Given the description of an element on the screen output the (x, y) to click on. 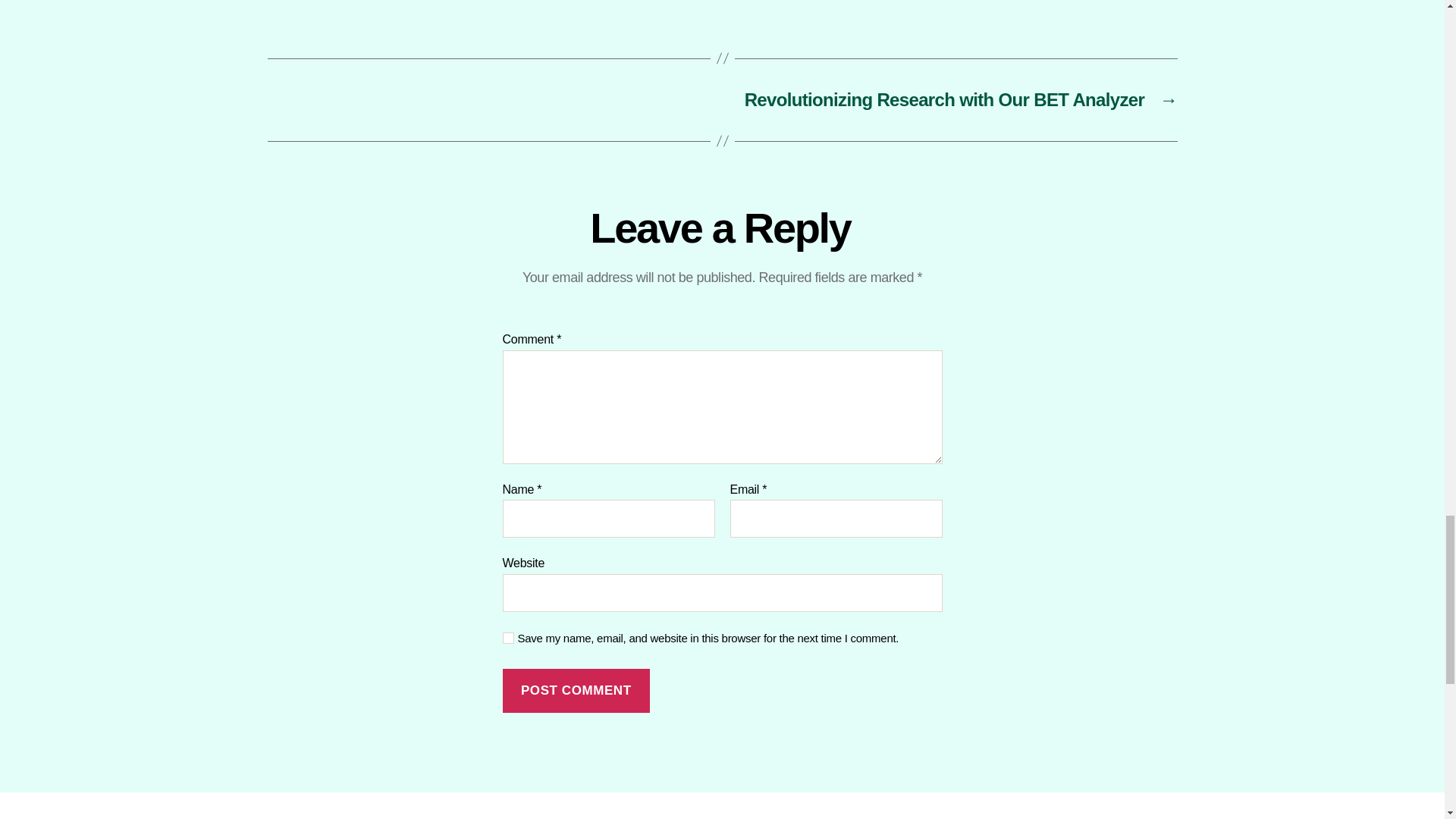
Post Comment (575, 691)
yes (507, 637)
Post Comment (575, 691)
